Given the description of an element on the screen output the (x, y) to click on. 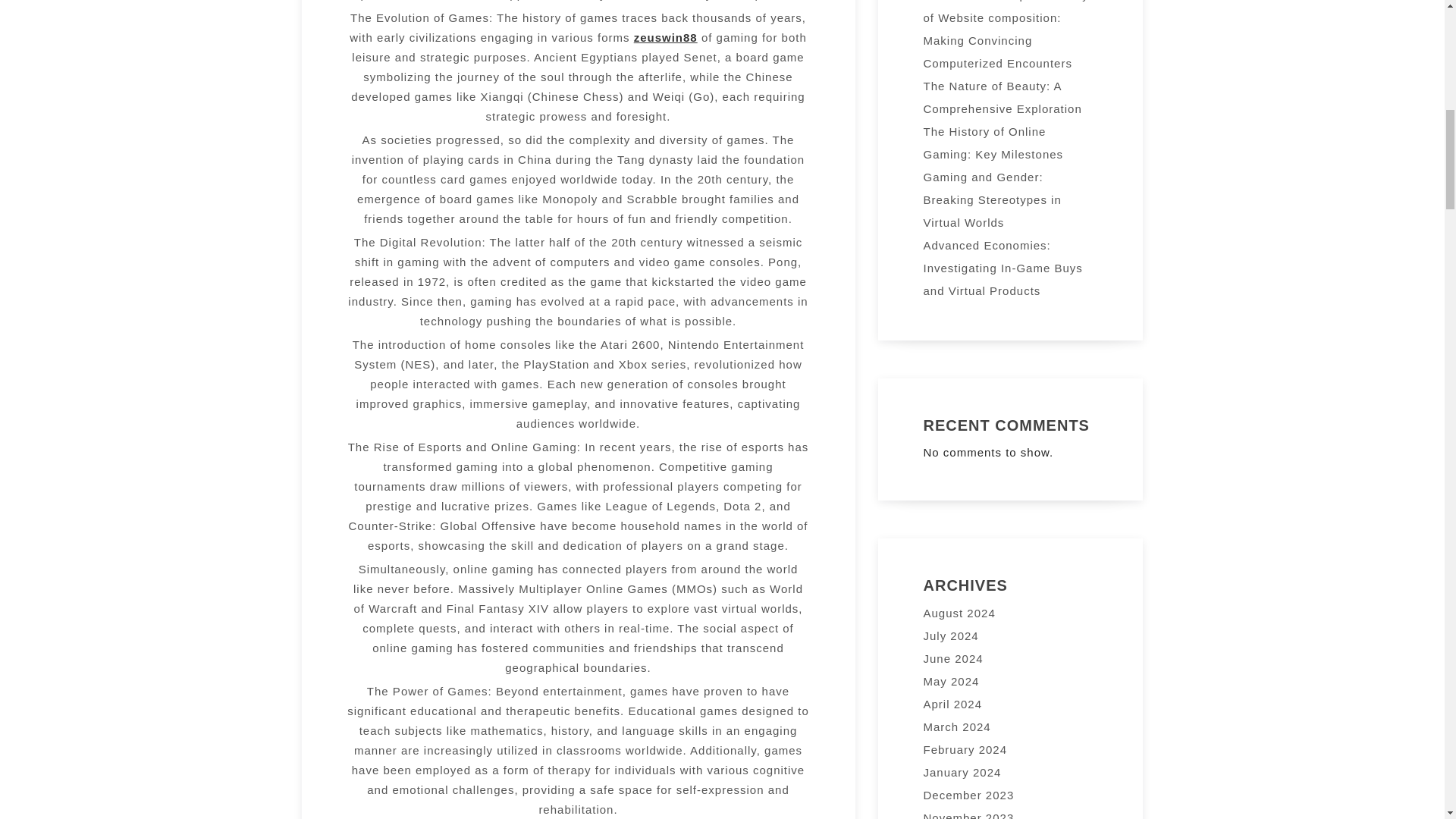
July 2024 (950, 635)
March 2024 (957, 726)
The Nature of Beauty: A Comprehensive Exploration (1002, 97)
February 2024 (965, 748)
December 2023 (968, 794)
August 2024 (959, 612)
May 2024 (951, 680)
Gaming and Gender: Breaking Stereotypes in Virtual Worlds (992, 199)
April 2024 (952, 703)
